Given the description of an element on the screen output the (x, y) to click on. 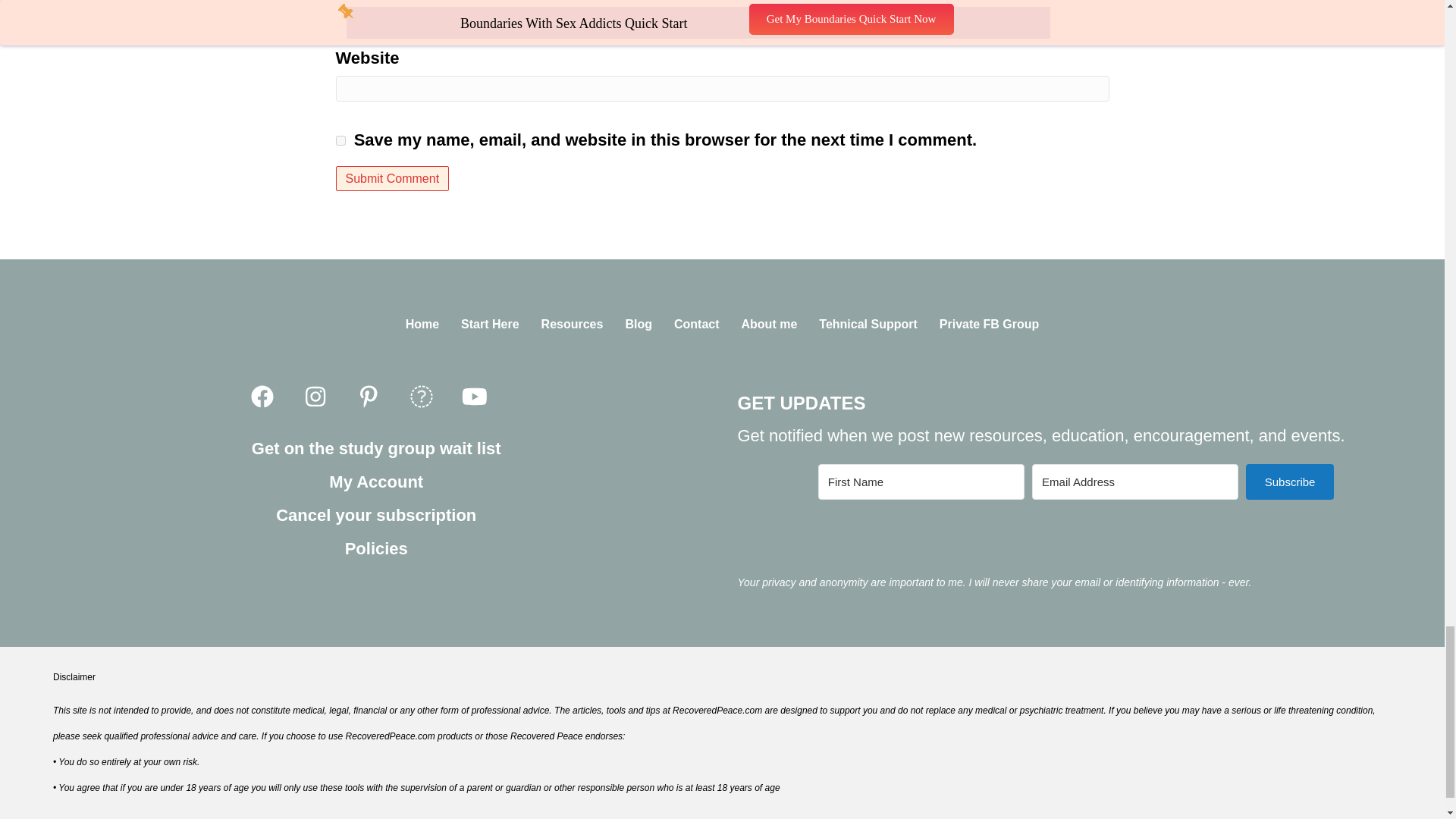
Instagram (314, 397)
Resources (572, 324)
YouTube (474, 397)
Blog (638, 324)
Home (421, 324)
Submit Comment (391, 178)
Start Here (489, 324)
Pinterest (368, 397)
yes (339, 140)
Twitter (421, 397)
Submit Comment (391, 178)
Facebook (262, 397)
